Given the description of an element on the screen output the (x, y) to click on. 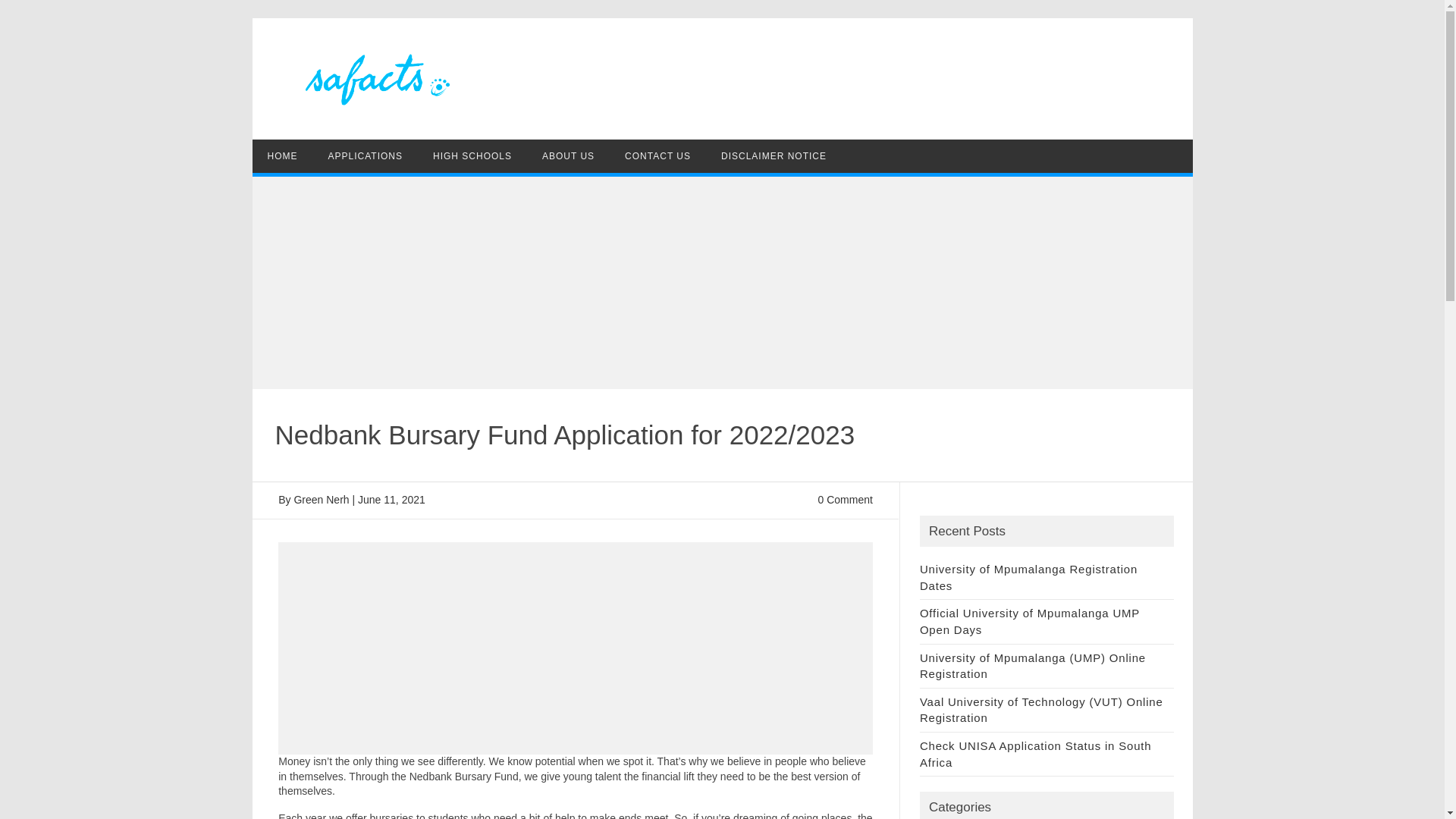
CONTACT US (658, 155)
University of Mpumalanga Registration Dates (1028, 577)
Green Nerh (321, 499)
DISCLAIMER NOTICE (773, 155)
Check UNISA Application Status in South Africa (1035, 754)
APPLICATIONS (364, 155)
Posts by Green Nerh (321, 499)
0 Comment (845, 499)
Official University of Mpumalanga UMP Open Days (1030, 621)
